Given the description of an element on the screen output the (x, y) to click on. 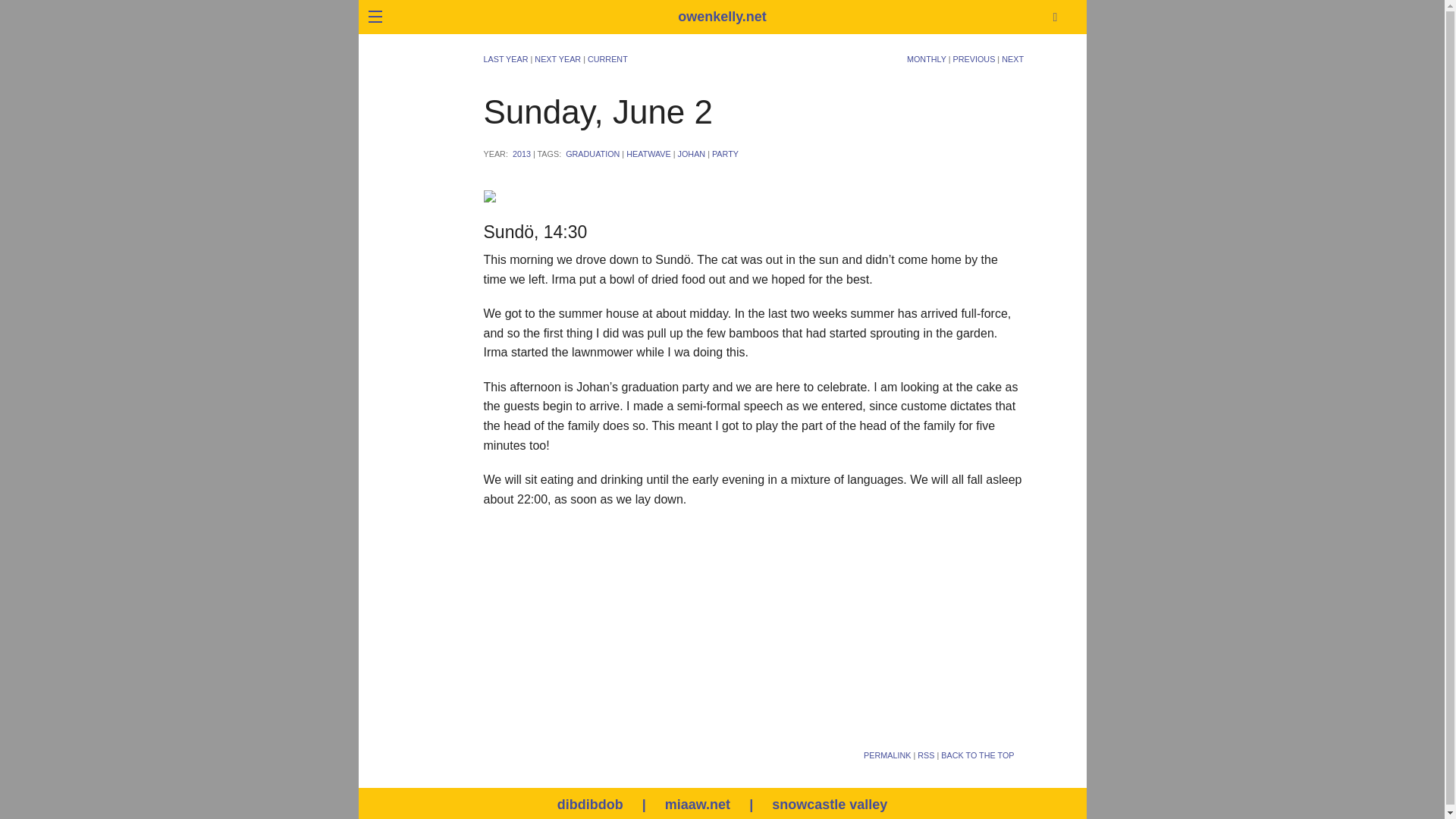
owenkelly.net (722, 16)
PREVIOUS (974, 58)
LAST YEAR (505, 58)
Contact me (263, 75)
Projects (263, 181)
Essays (263, 109)
MONTHLY (926, 58)
About (263, 39)
Search (1148, 154)
Notes (263, 145)
